Given the description of an element on the screen output the (x, y) to click on. 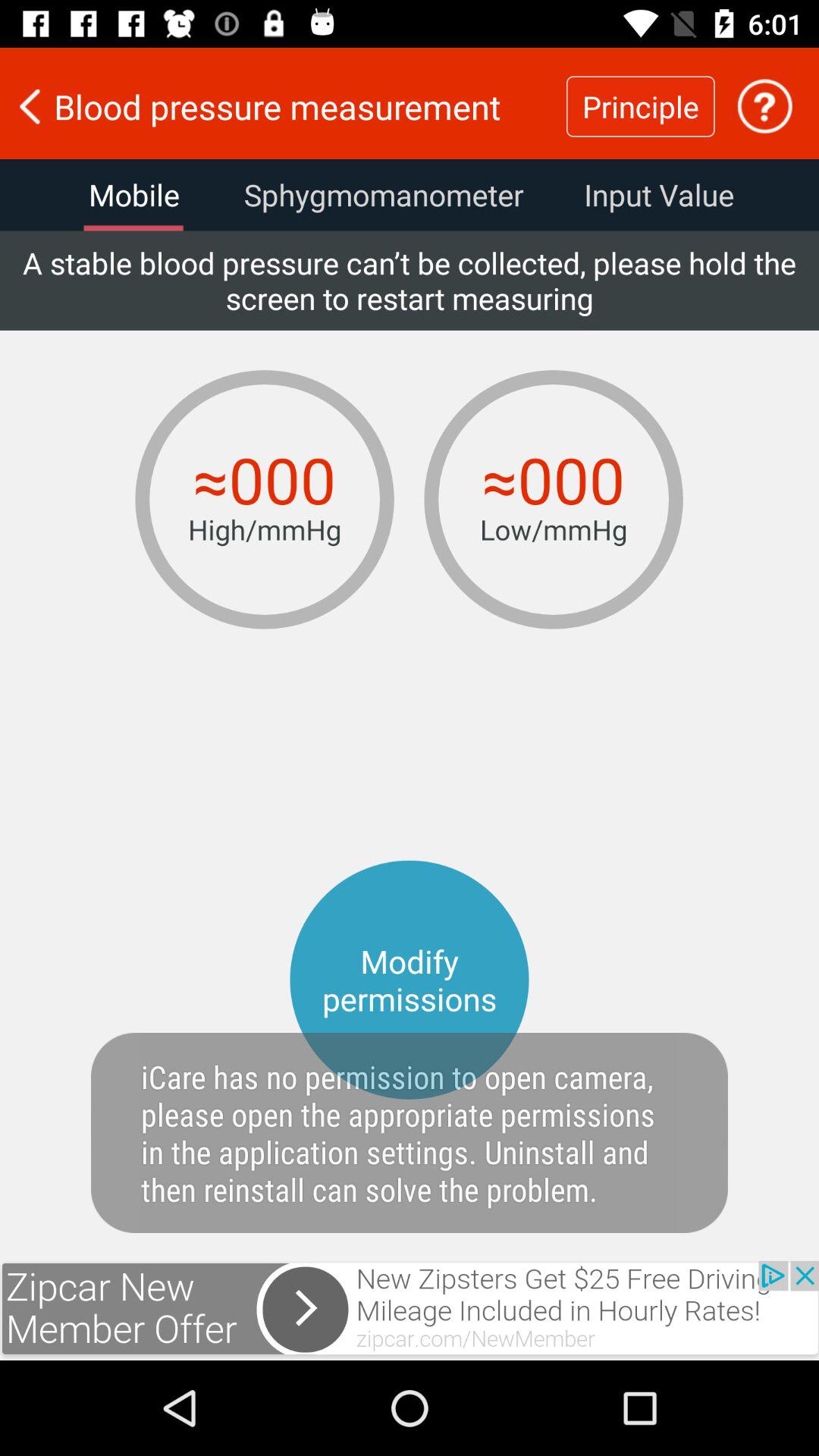
help (764, 106)
